Given the description of an element on the screen output the (x, y) to click on. 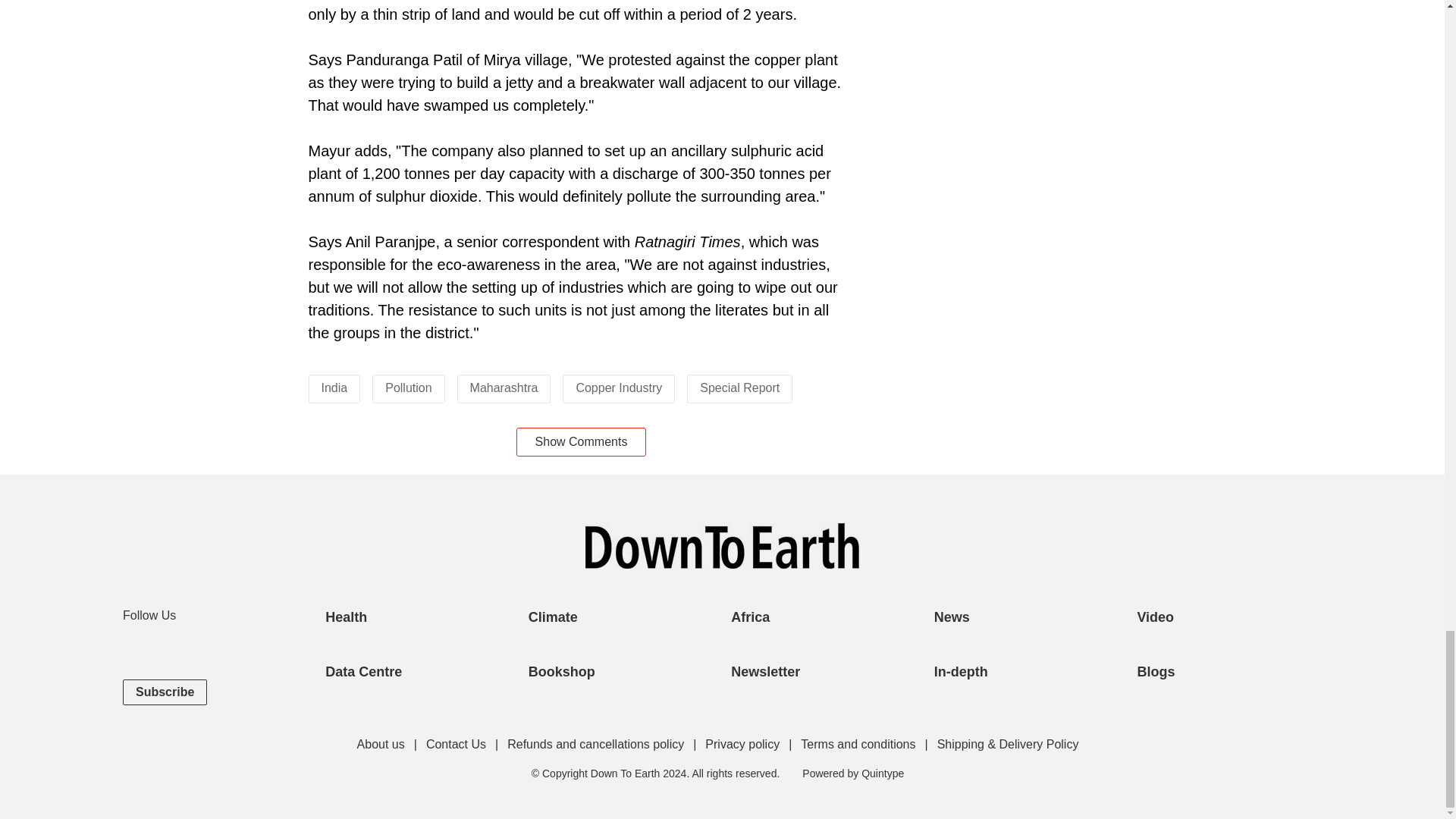
Pollution (407, 387)
India (334, 387)
